Given the description of an element on the screen output the (x, y) to click on. 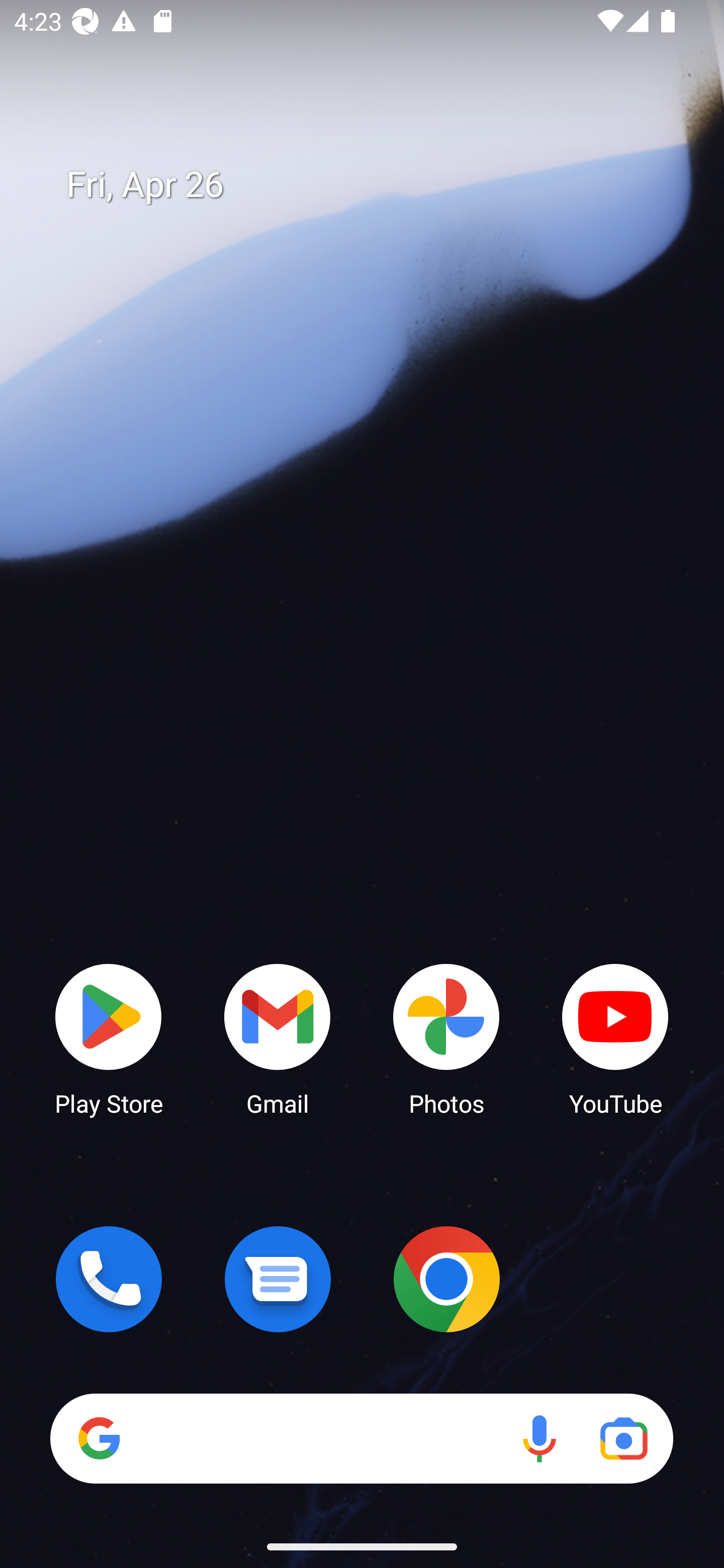
Fri, Apr 26 (375, 184)
Play Store (108, 1038)
Gmail (277, 1038)
Photos (445, 1038)
YouTube (615, 1038)
Phone (108, 1279)
Messages (277, 1279)
Chrome (446, 1279)
Search Voice search Google Lens (361, 1438)
Voice search (539, 1438)
Google Lens (623, 1438)
